Given the description of an element on the screen output the (x, y) to click on. 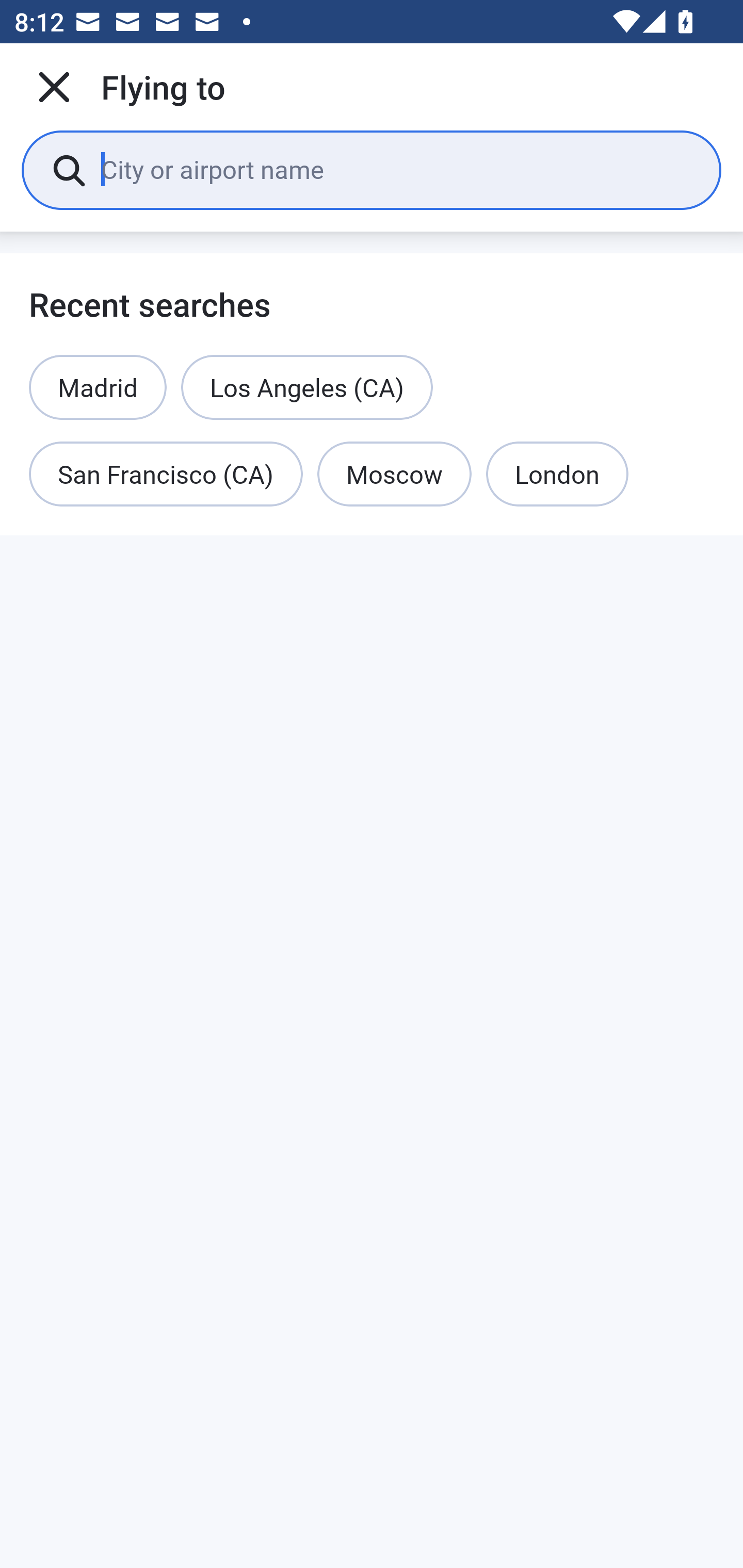
City or airport name (396, 169)
Madrid (97, 387)
Los Angeles (CA) (307, 387)
San Francisco (CA) (165, 474)
Moscow (394, 474)
London (556, 474)
